Given the description of an element on the screen output the (x, y) to click on. 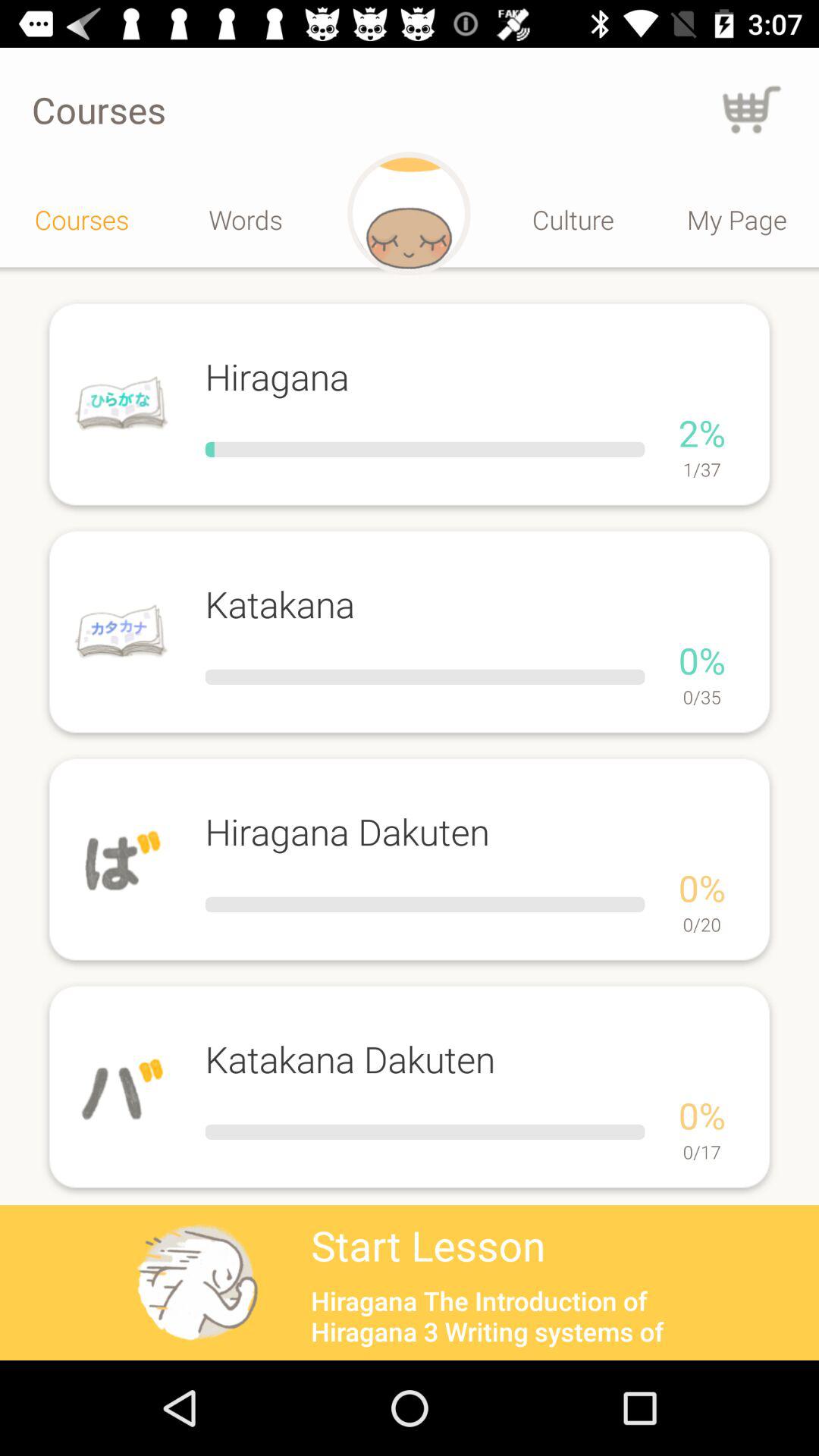
go back (751, 109)
